Given the description of an element on the screen output the (x, y) to click on. 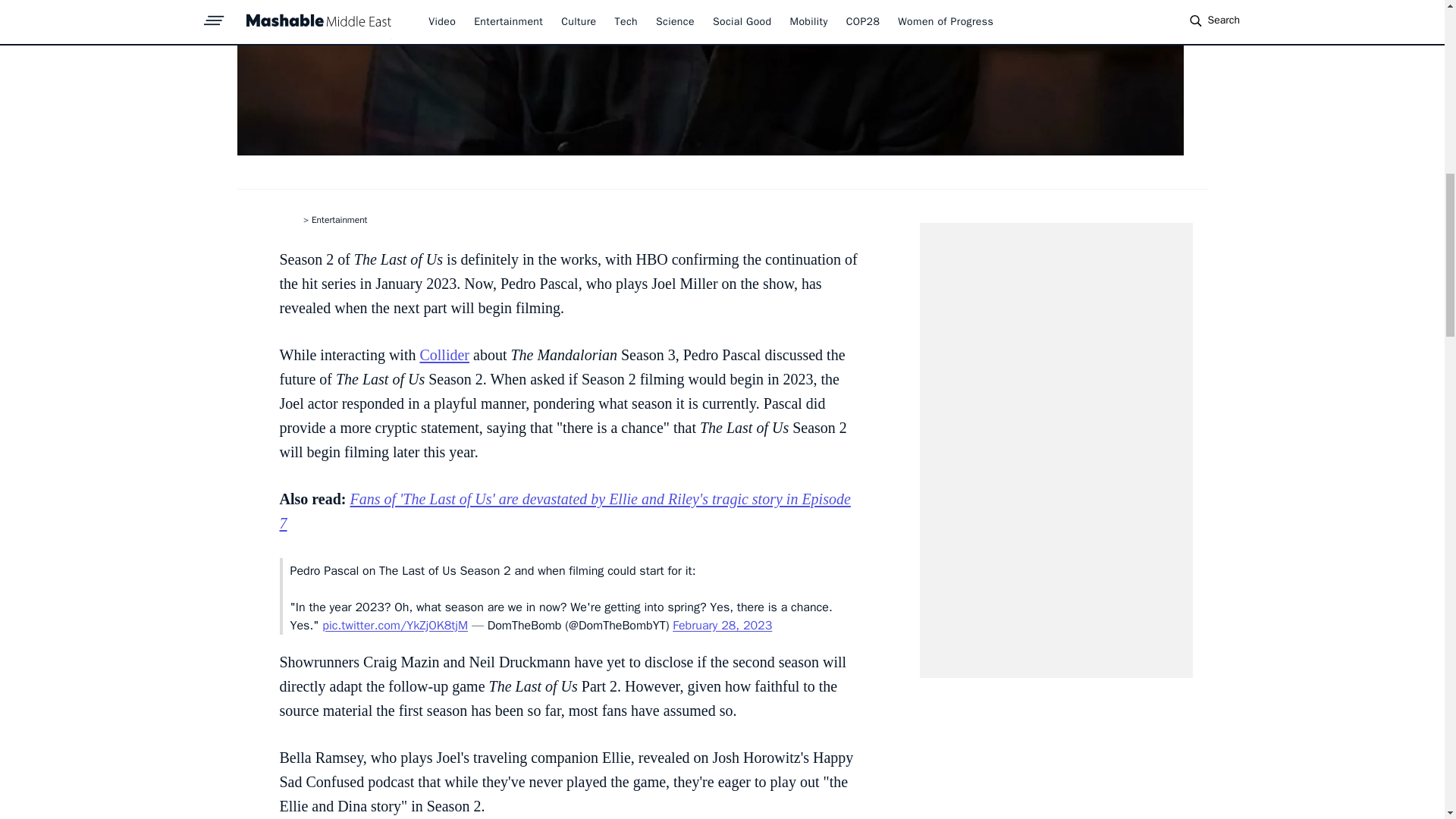
February 28, 2023 (721, 625)
Collider (443, 354)
